Given the description of an element on the screen output the (x, y) to click on. 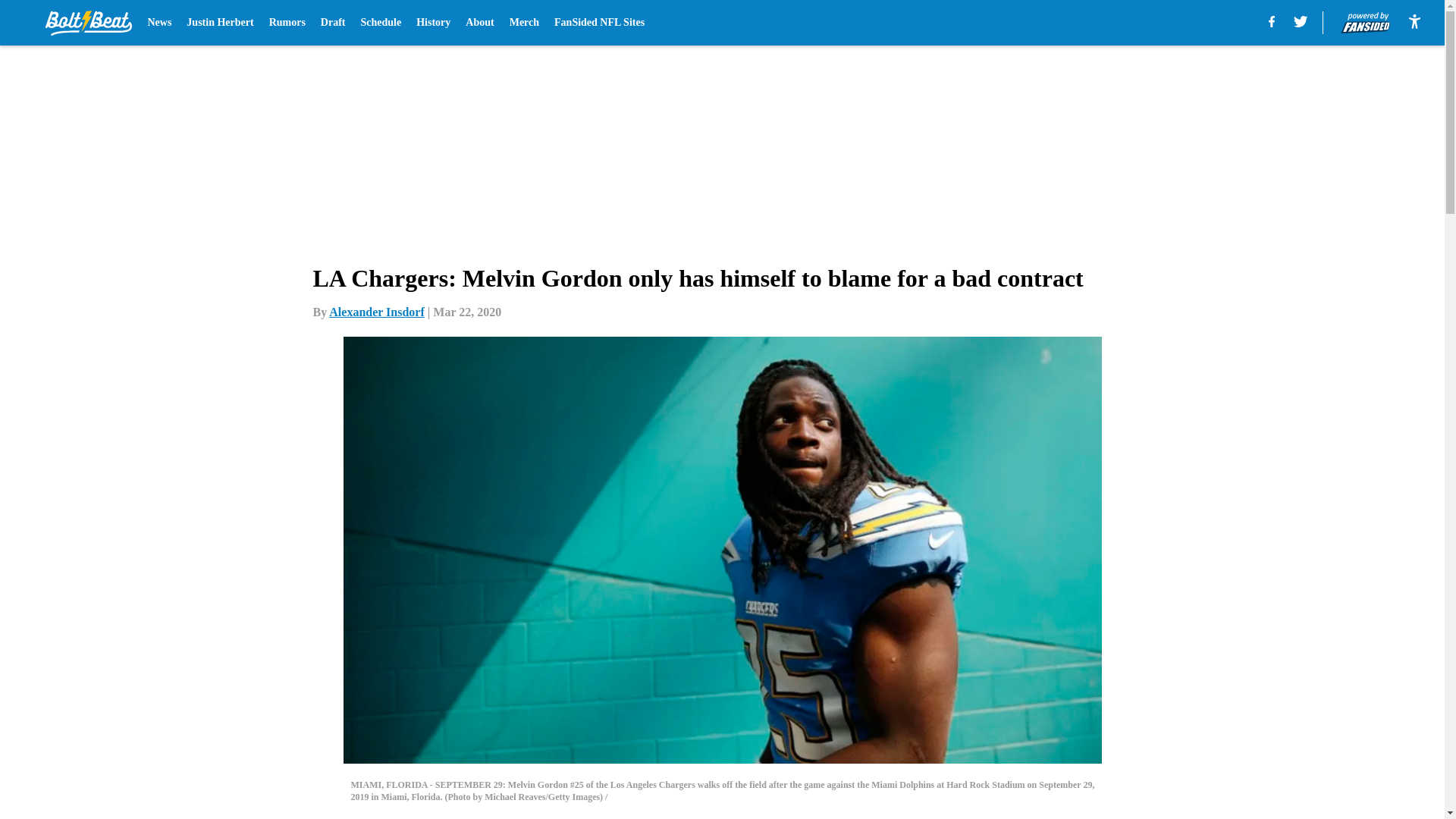
About (479, 22)
History (432, 22)
FanSided NFL Sites (599, 22)
Schedule (381, 22)
News (159, 22)
Alexander Insdorf (377, 311)
Merch (523, 22)
Justin Herbert (219, 22)
Draft (333, 22)
Rumors (287, 22)
